Given the description of an element on the screen output the (x, y) to click on. 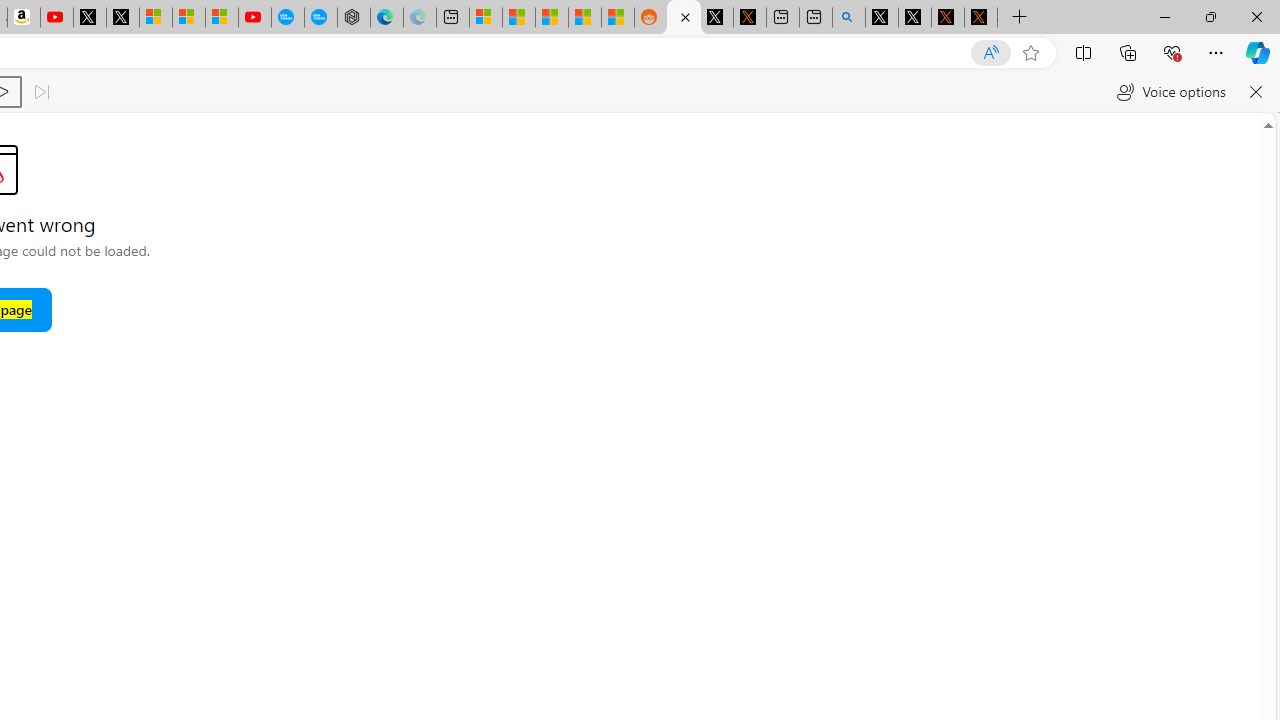
Shanghai, China hourly forecast | Microsoft Weather (552, 17)
Nordace - Nordace has arrived Hong Kong (353, 17)
Voice options (1170, 92)
X (123, 17)
X Privacy Policy (981, 17)
GitHub (@github) / X (914, 17)
github - Search (849, 17)
Shanghai, China weather forecast | Microsoft Weather (519, 17)
